Given the description of an element on the screen output the (x, y) to click on. 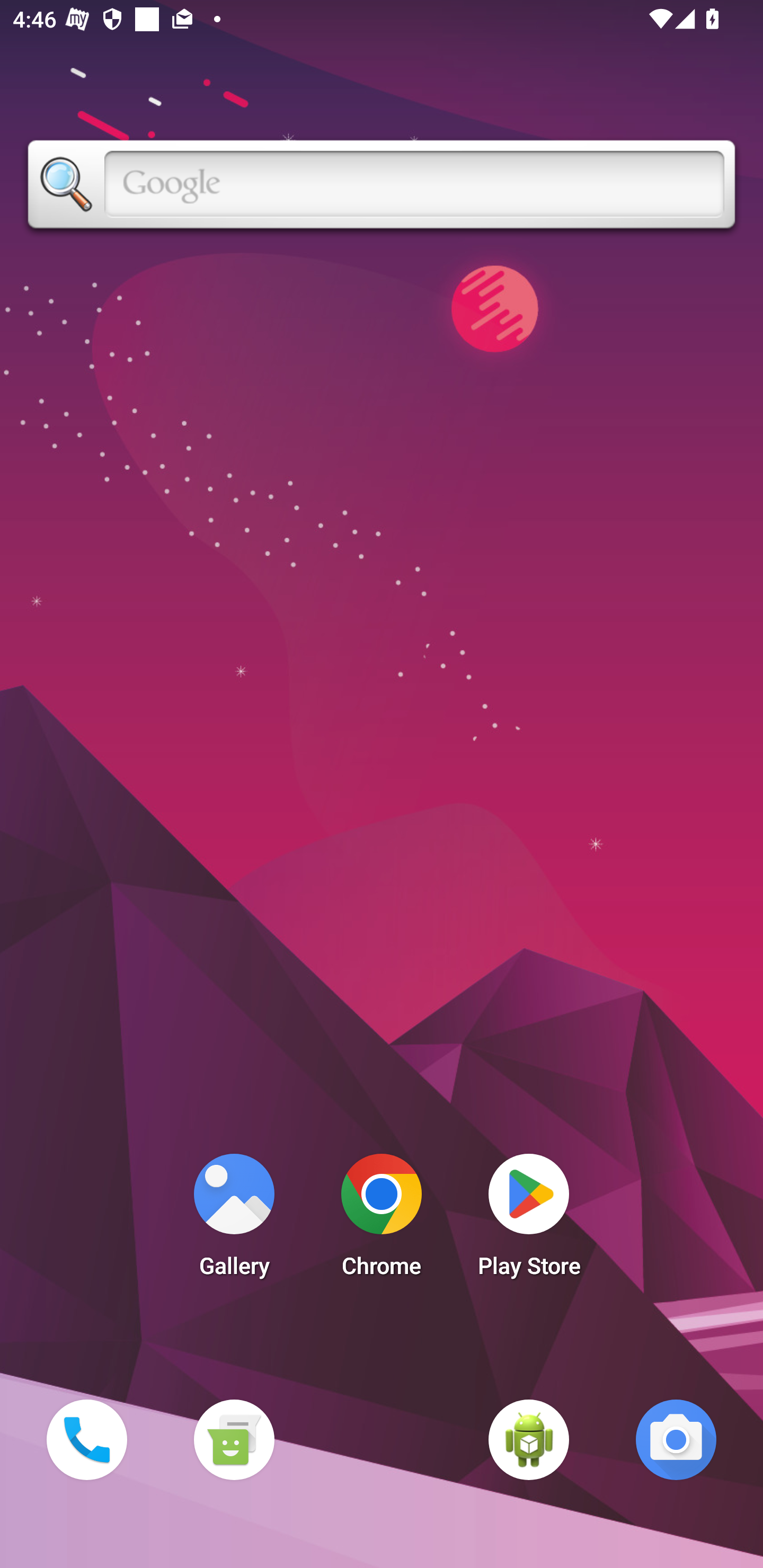
Gallery (233, 1220)
Chrome (381, 1220)
Play Store (528, 1220)
Phone (86, 1439)
Messaging (233, 1439)
WebView Browser Tester (528, 1439)
Camera (676, 1439)
